Given the description of an element on the screen output the (x, y) to click on. 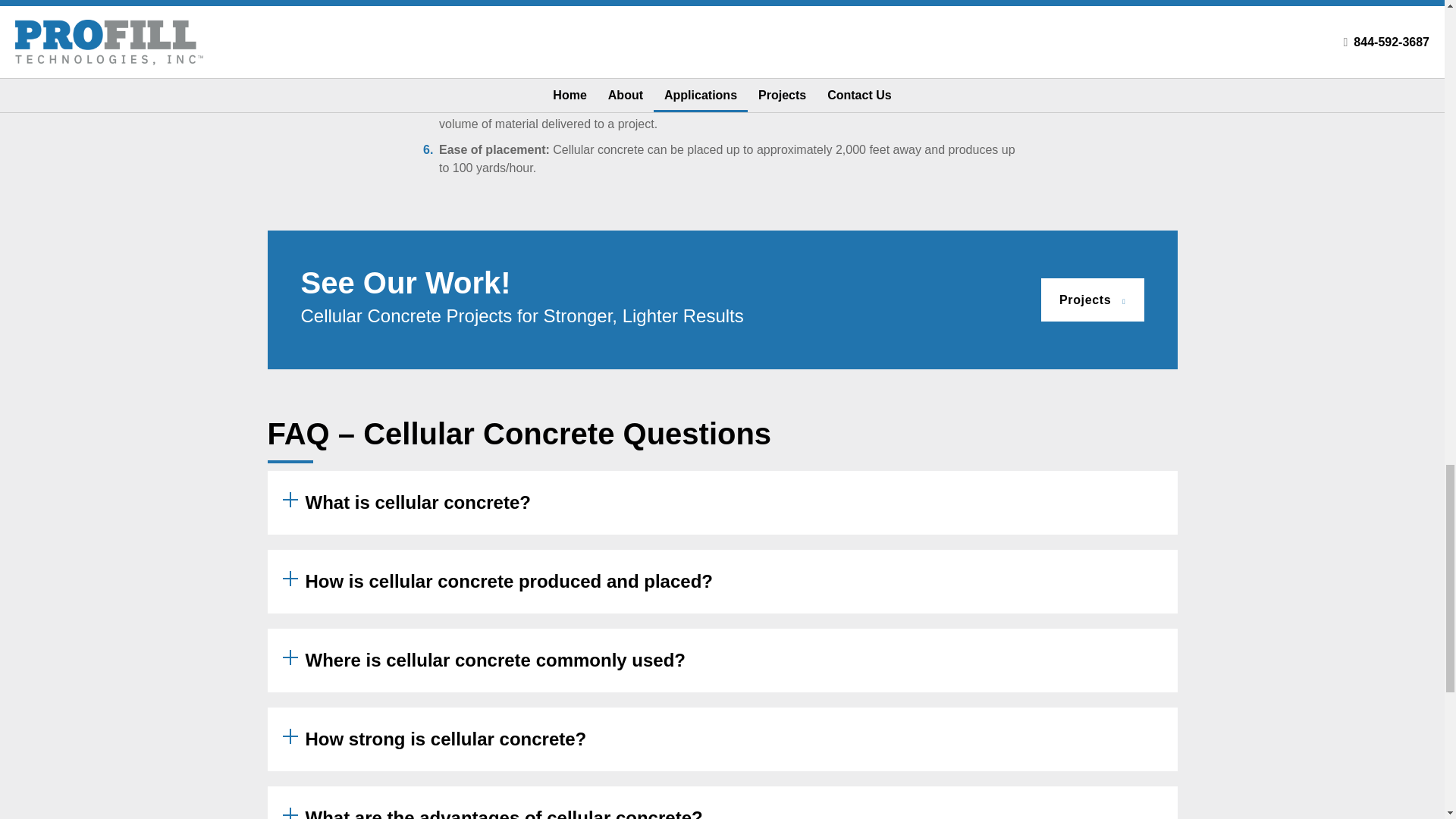
Projects (1092, 299)
What are the advantages of cellular concrete? (721, 802)
How strong is cellular concrete? (721, 739)
What is cellular concrete? (721, 502)
How is cellular concrete produced and placed? (721, 581)
Where is cellular concrete commonly used? (721, 660)
